Given the description of an element on the screen output the (x, y) to click on. 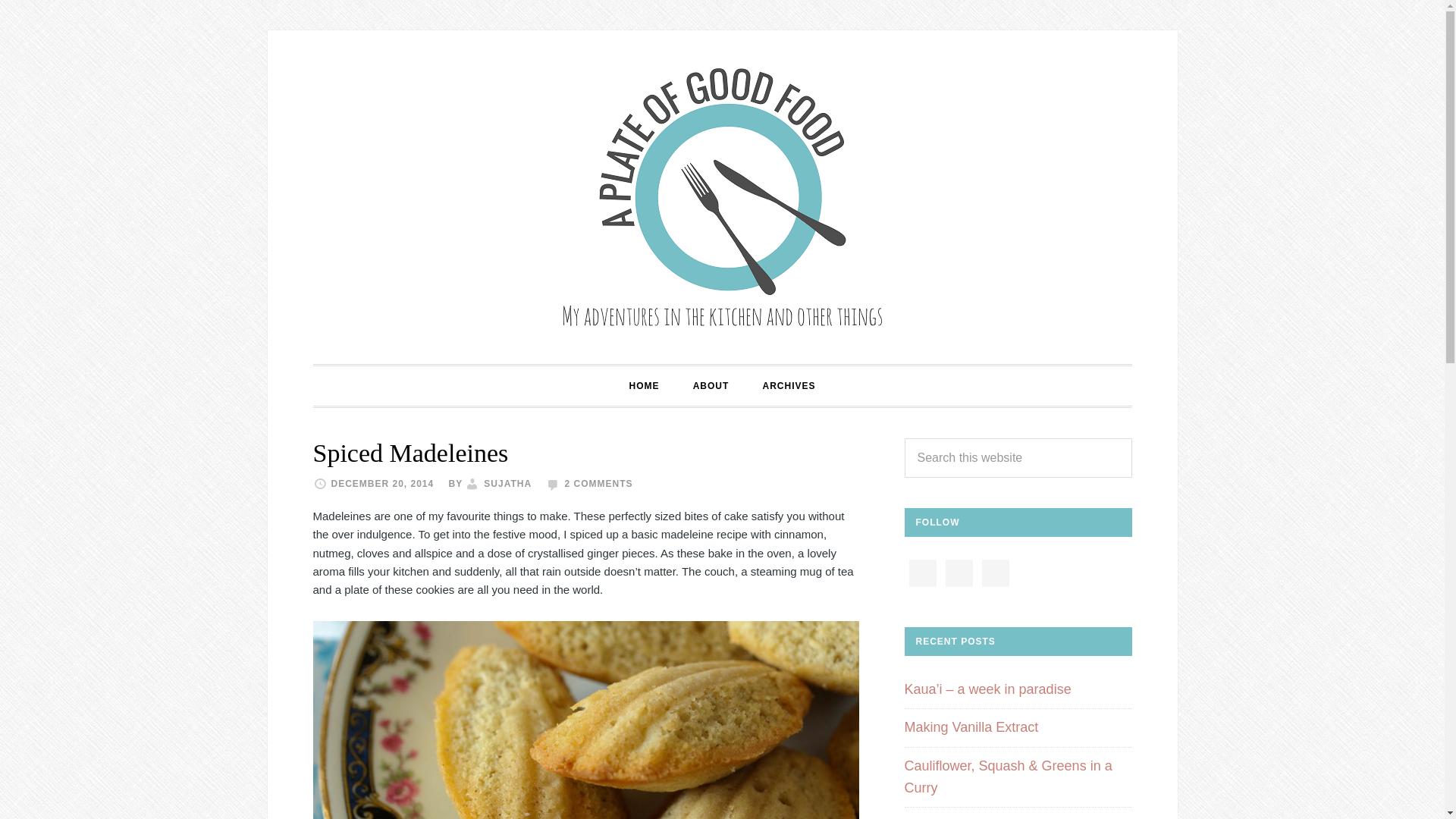
Making Vanilla Extract (971, 726)
ABOUT (711, 385)
HOME (643, 385)
SUJATHA (507, 483)
A PLATE OF GOOD FOOD (721, 196)
Spiced Madeleines (410, 452)
2 COMMENTS (597, 483)
